Given the description of an element on the screen output the (x, y) to click on. 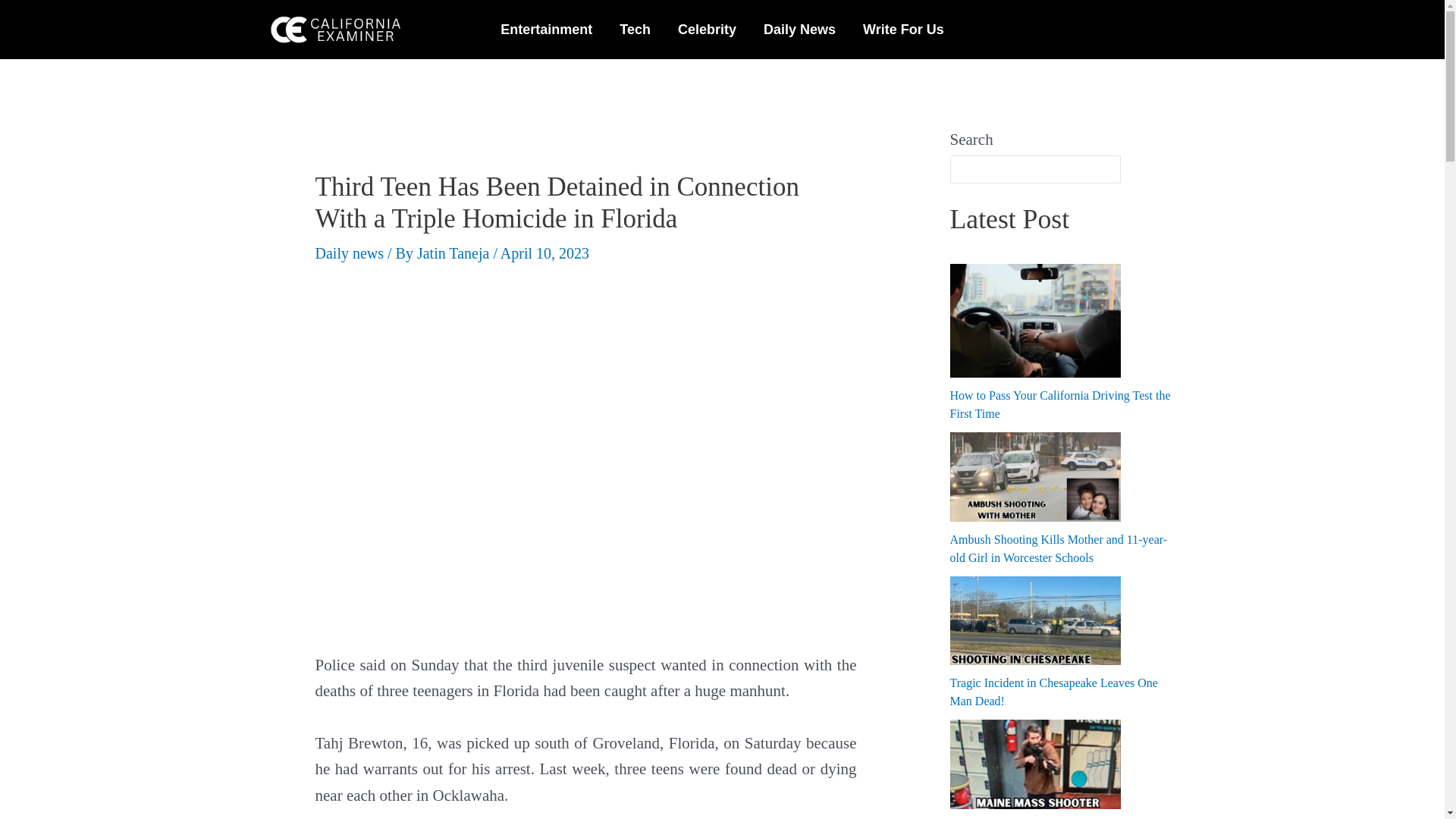
Write For Us (903, 29)
Daily News (798, 29)
Daily news (349, 252)
Entertainment (545, 29)
Celebrity (706, 29)
Jatin Taneja (454, 252)
Tech (634, 29)
View all posts by Jatin Taneja (454, 252)
